Given the description of an element on the screen output the (x, y) to click on. 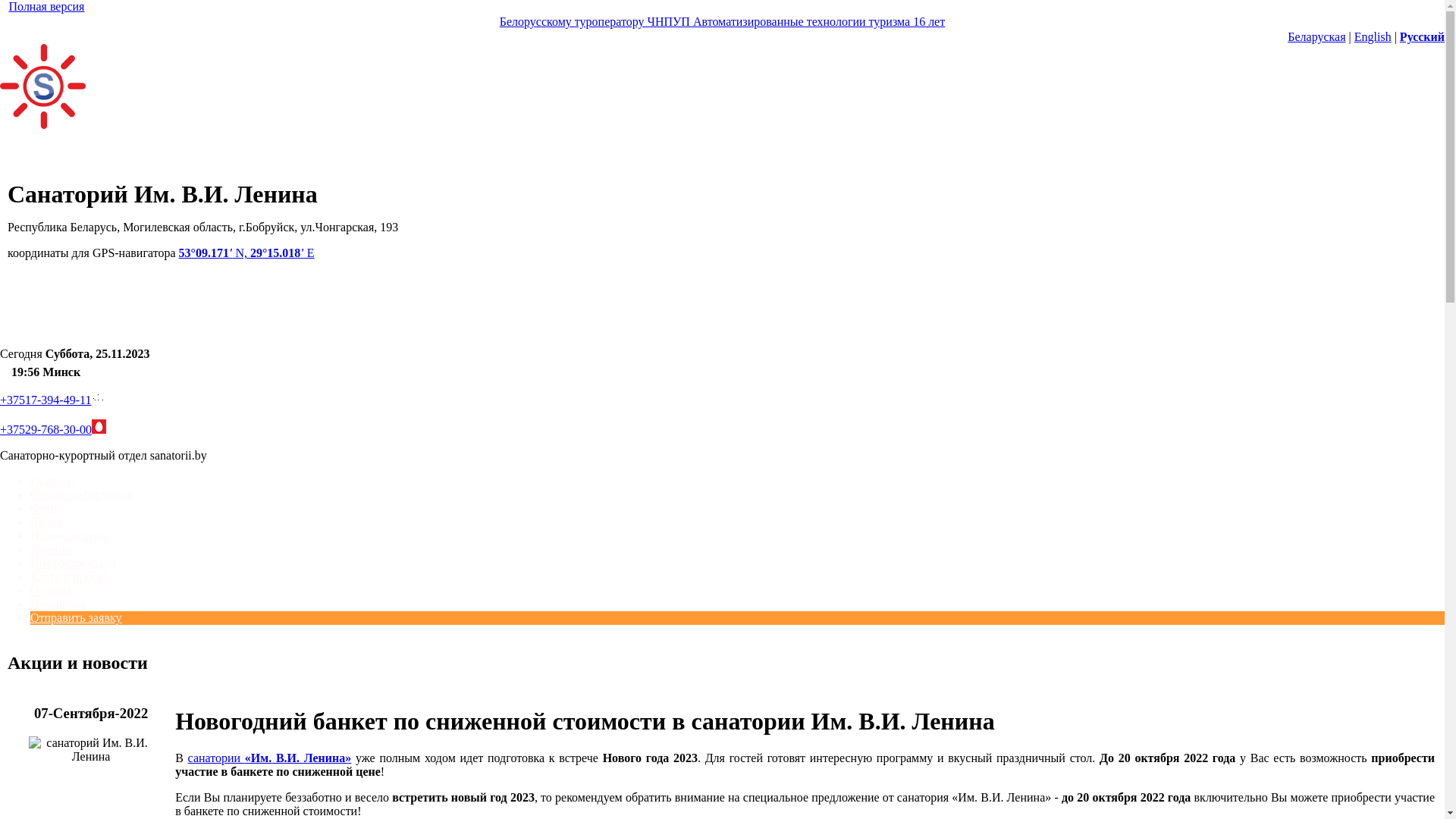
+37529-768-30-00 Element type: text (45, 429)
+37517-394-49-11 Element type: text (45, 399)
English Element type: text (1372, 36)
